Given the description of an element on the screen output the (x, y) to click on. 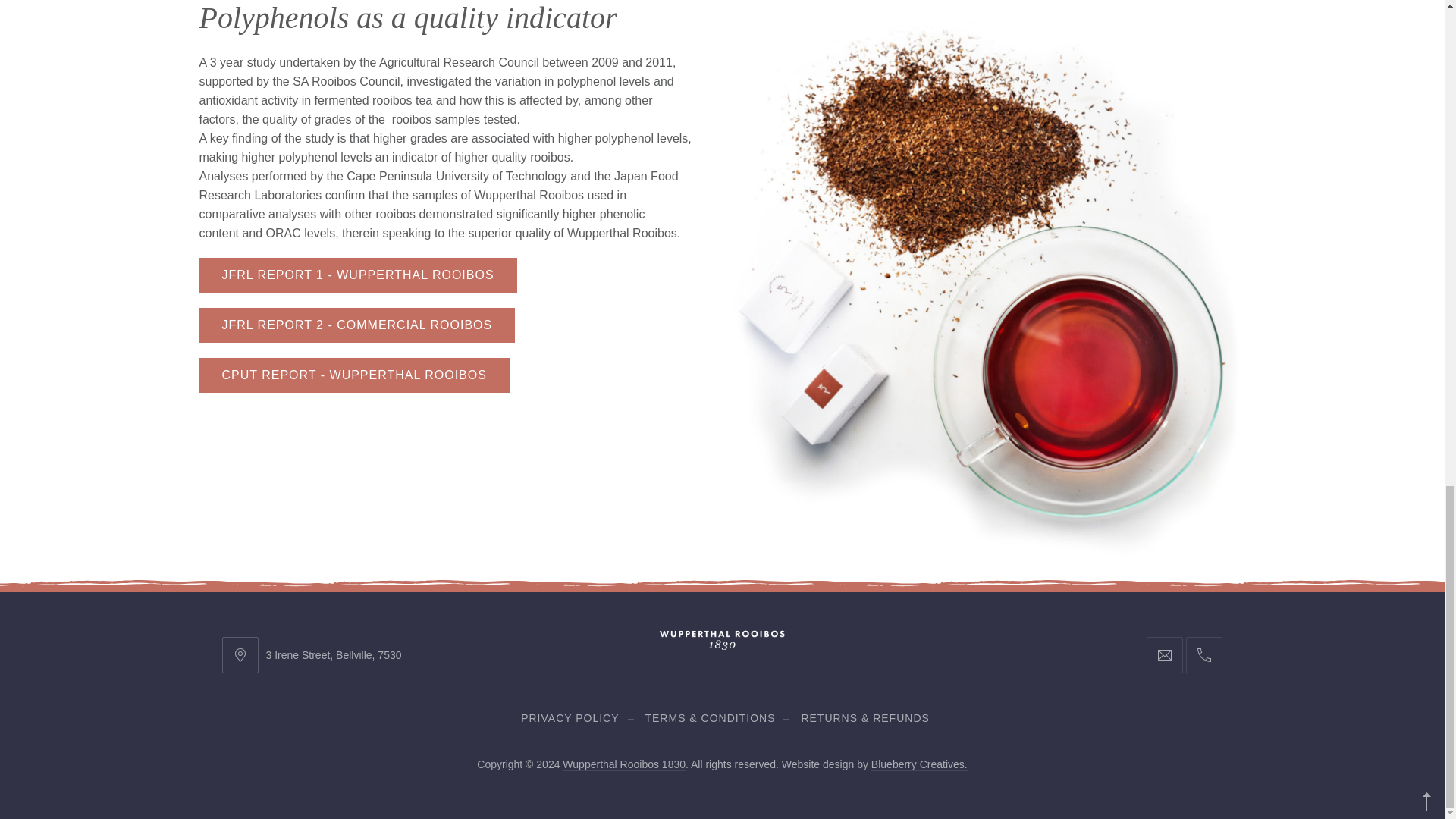
PRIVACY POLICY (569, 717)
JFRL REPORT 2 - COMMERCIAL ROOIBOS (356, 325)
JFRL REPORT 1 - WUPPERTHAL ROOIBOS (357, 274)
Organically farmed since 1830 (623, 764)
Top (1425, 801)
Wupperthal Rooibos 1830 (623, 764)
CPUT REPORT - WUPPERTHAL ROOIBOS (353, 375)
Blueberry Creatives. (919, 764)
